Given the description of an element on the screen output the (x, y) to click on. 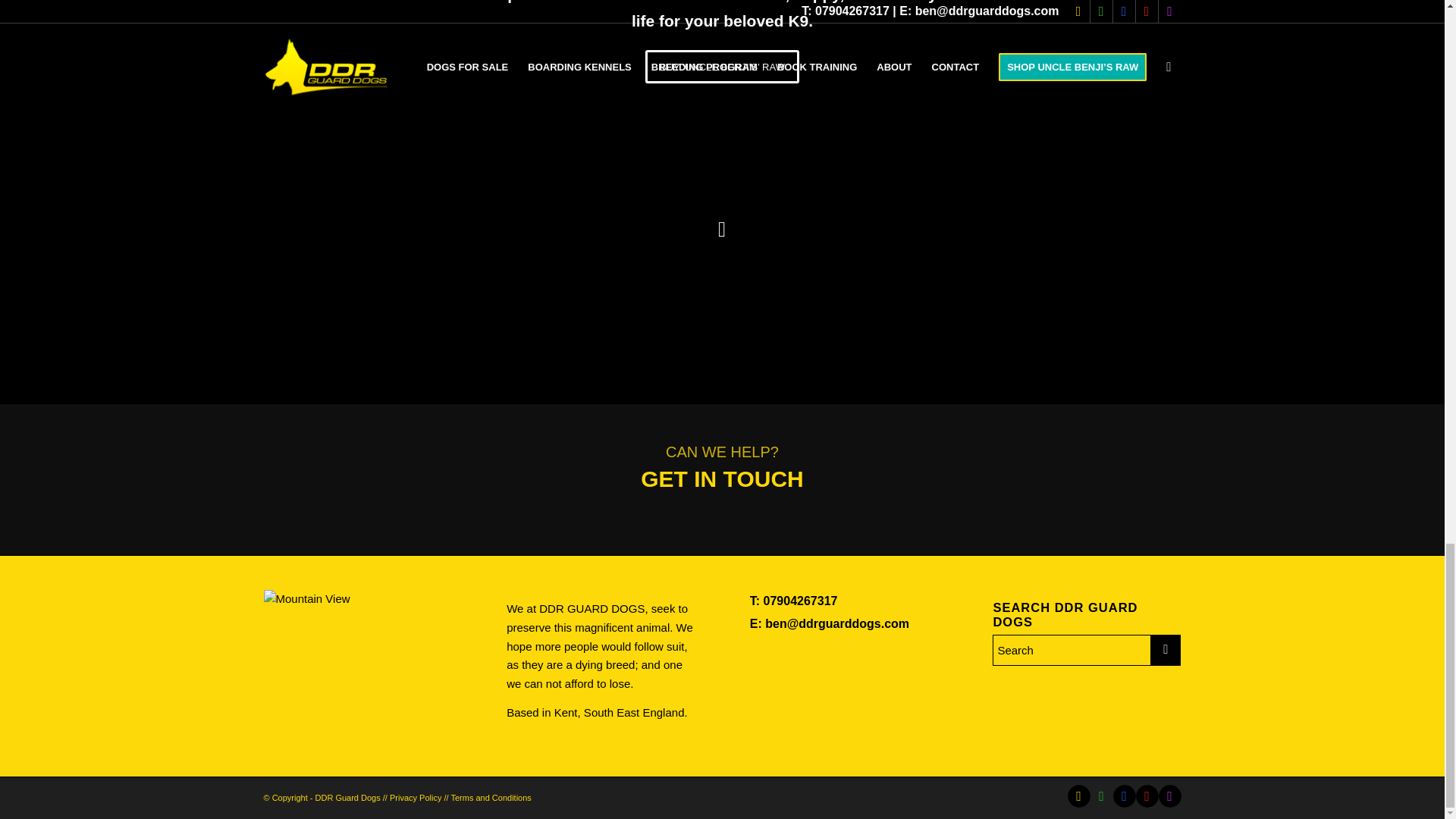
Mail (1078, 795)
WhatsApp (1101, 795)
Facebook (1124, 795)
